Given the description of an element on the screen output the (x, y) to click on. 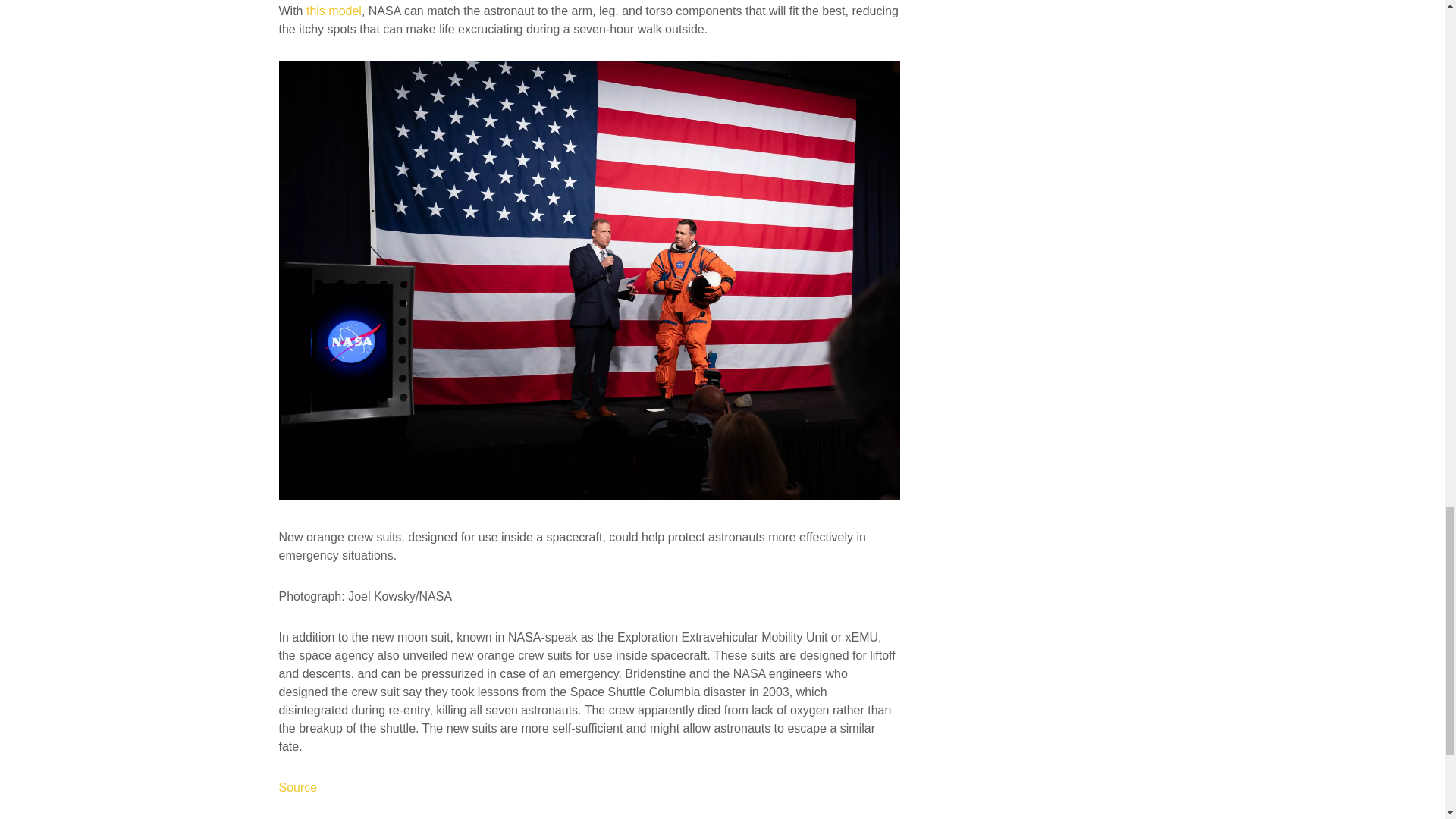
this model (333, 10)
Source (298, 787)
